Given the description of an element on the screen output the (x, y) to click on. 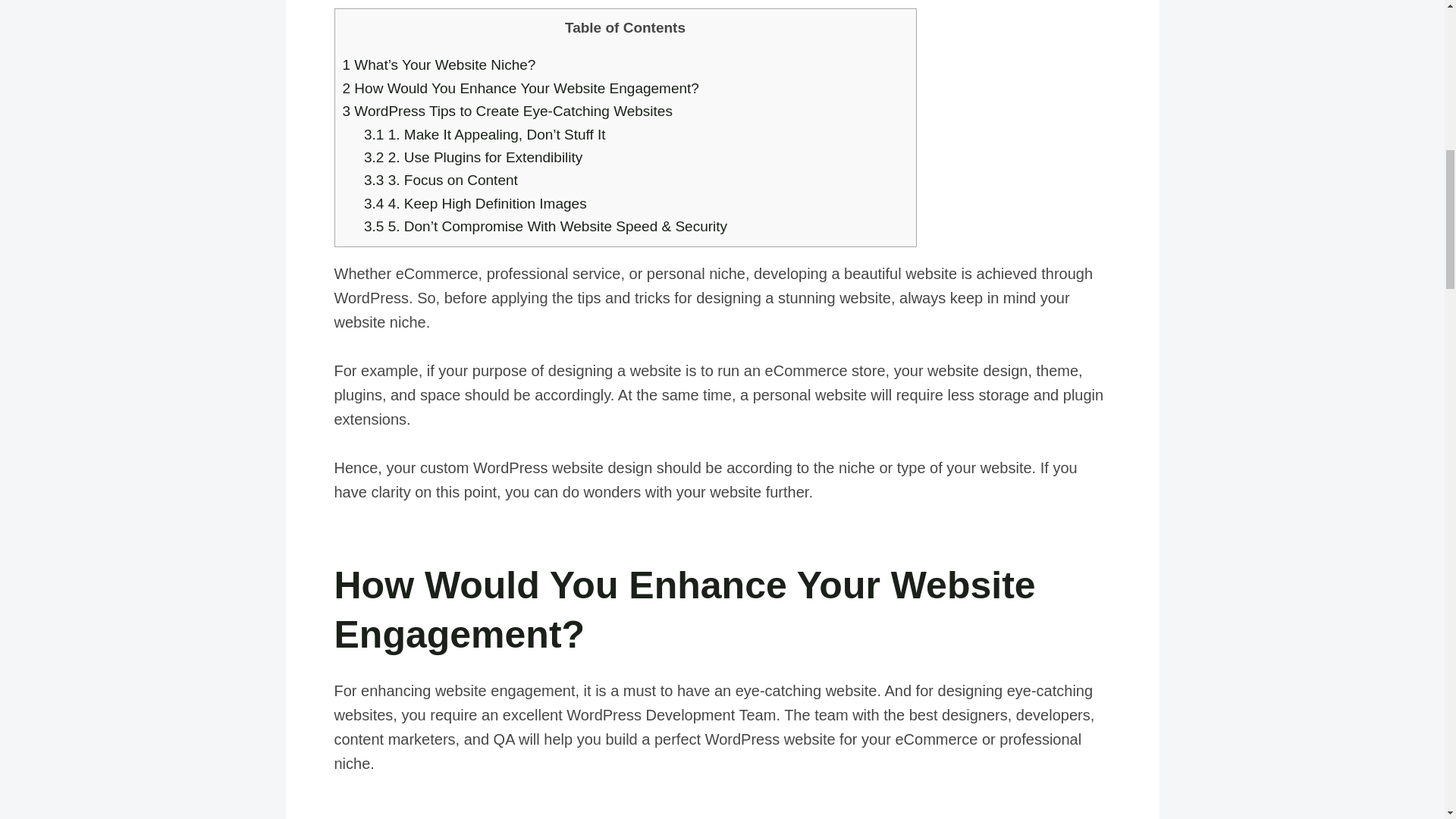
3.4 4. Keep High Definition Images (475, 203)
3.2 2. Use Plugins for Extendibility (473, 157)
3.3 3. Focus on Content  (442, 179)
3 WordPress Tips to Create Eye-Catching Websites (507, 110)
2 How Would You Enhance Your Website Engagement? (520, 88)
